Given the description of an element on the screen output the (x, y) to click on. 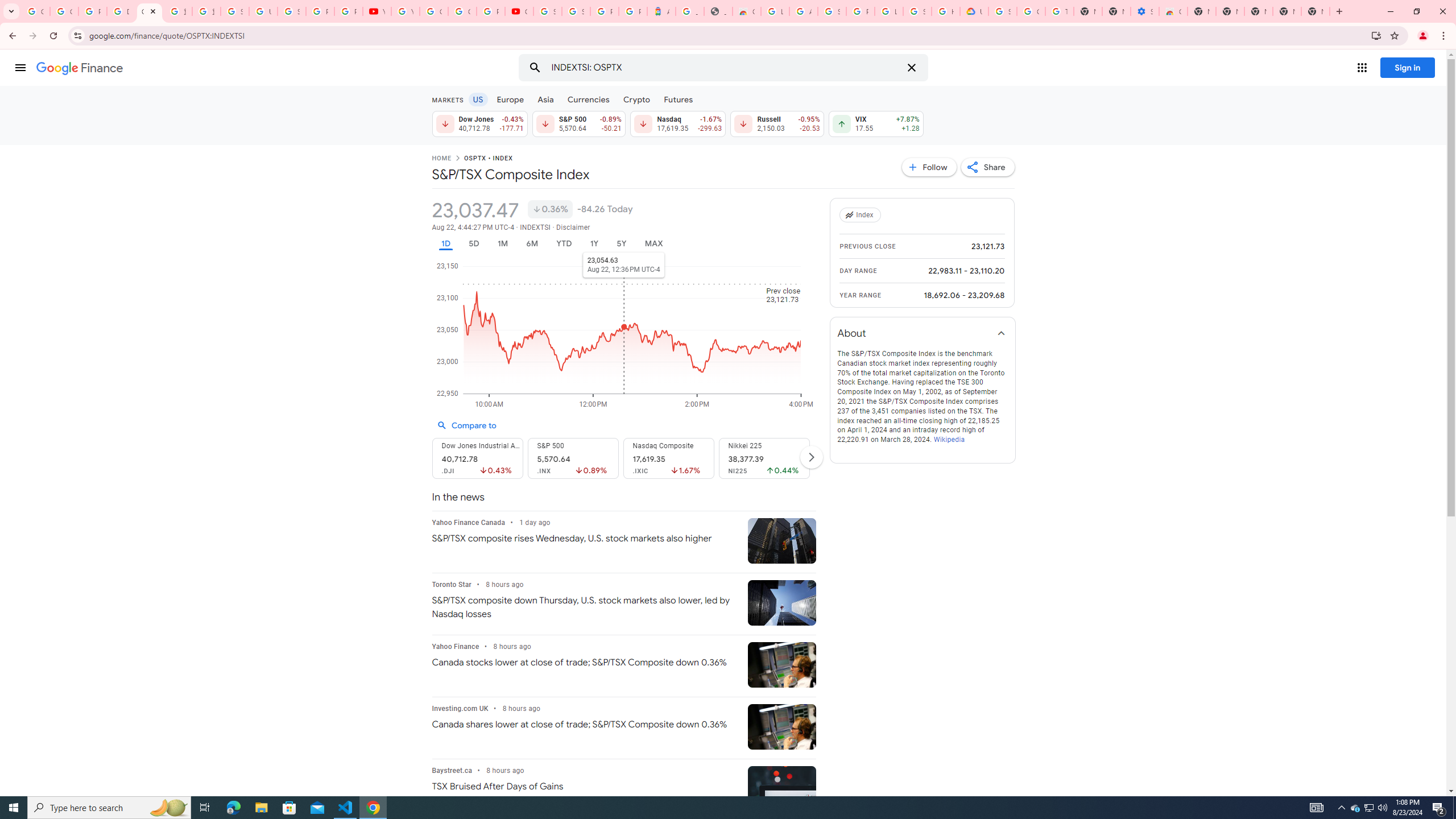
Google Workspace Admin Community (35, 11)
Search for stocks, ETFs & more (724, 67)
Share (987, 167)
Sign in - Google Accounts (575, 11)
